Given the description of an element on the screen output the (x, y) to click on. 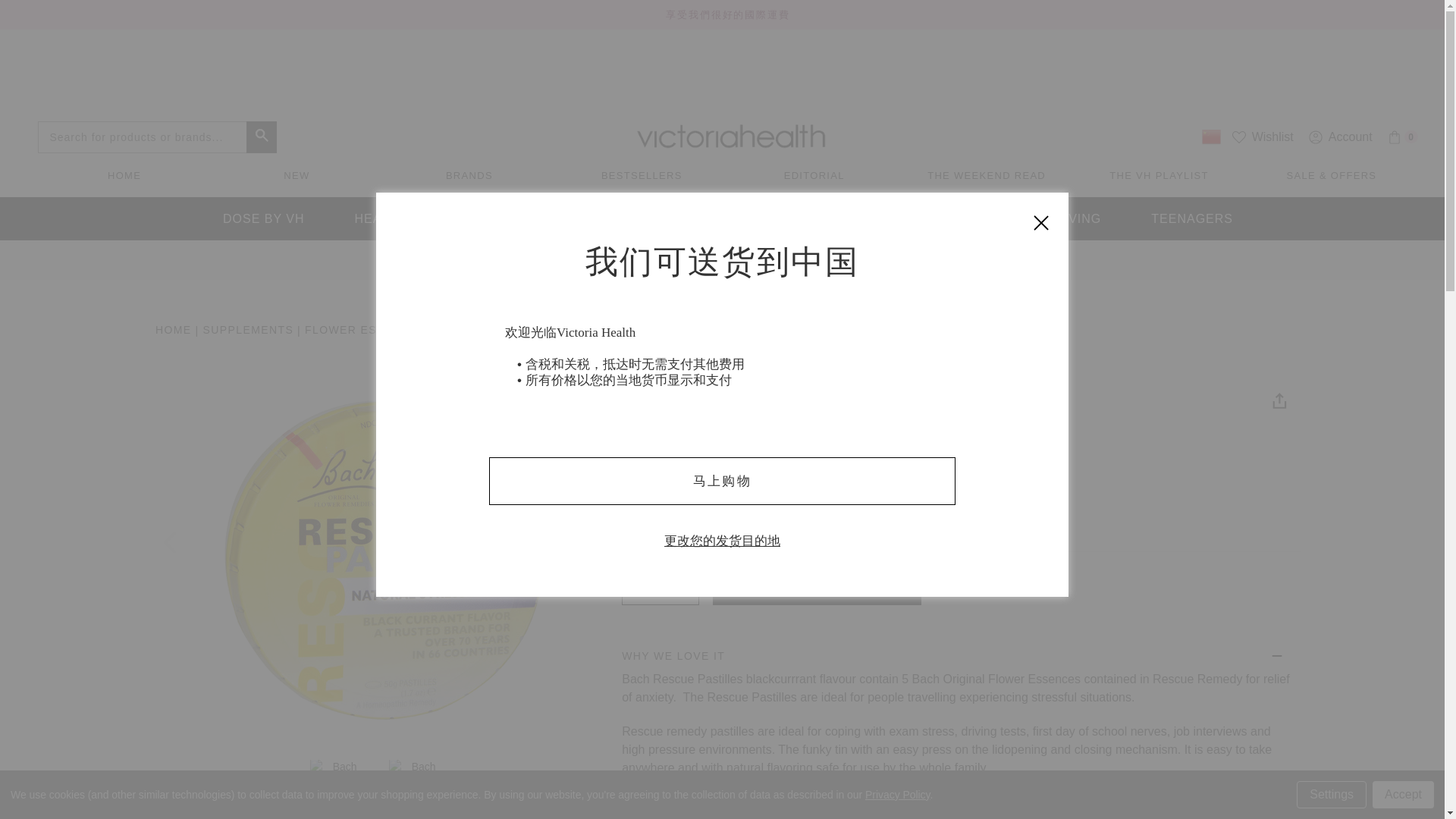
The weekend read (986, 174)
The vh playlist (1158, 174)
NEW (295, 174)
New (295, 174)
Add to Basket (817, 583)
Wishlist (1262, 136)
Editorial (814, 174)
1 (660, 584)
Bestsellers (641, 174)
HOME (124, 174)
Brands (469, 174)
Victoriahealth.com Ltd (730, 137)
Search for products or brands... (1402, 137)
Home (261, 137)
